Given the description of an element on the screen output the (x, y) to click on. 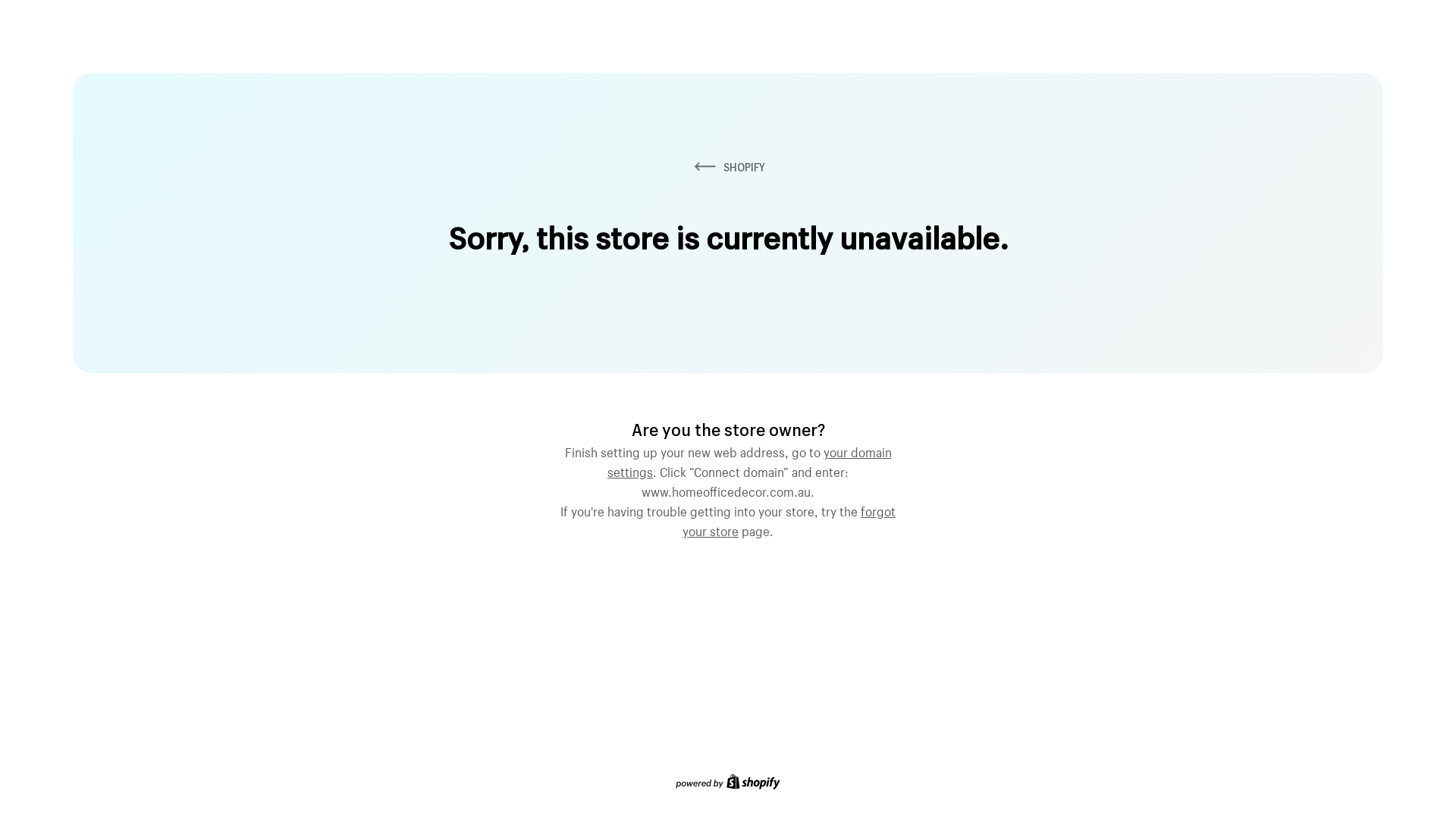
your domain settings Element type: text (749, 460)
SHOPIFY Element type: text (727, 167)
forgot your store Element type: text (788, 519)
